Given the description of an element on the screen output the (x, y) to click on. 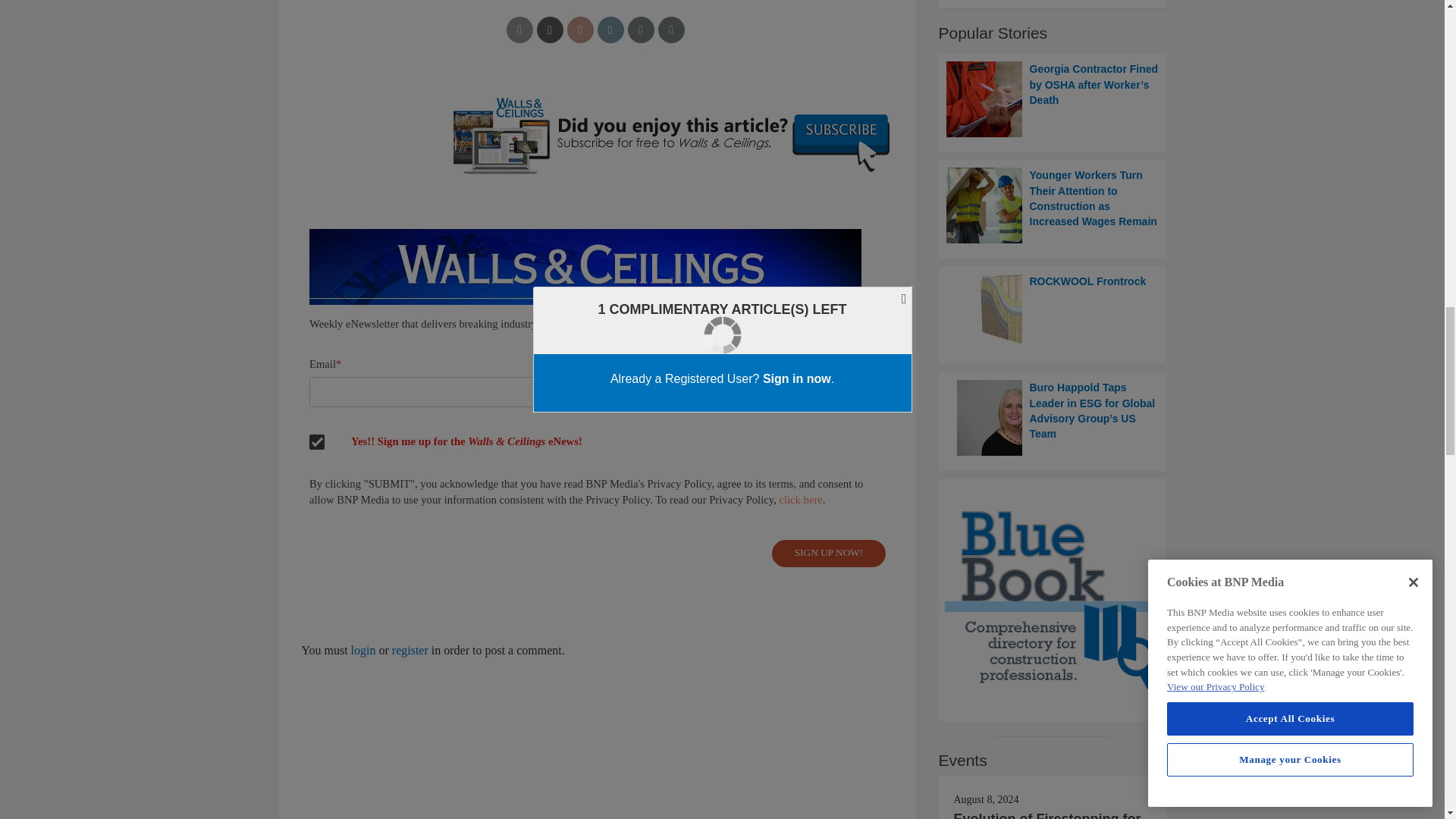
Evolution of Firestopping for Building Joints (1047, 815)
ROCKWOOL Frontrock (1052, 311)
